Given the description of an element on the screen output the (x, y) to click on. 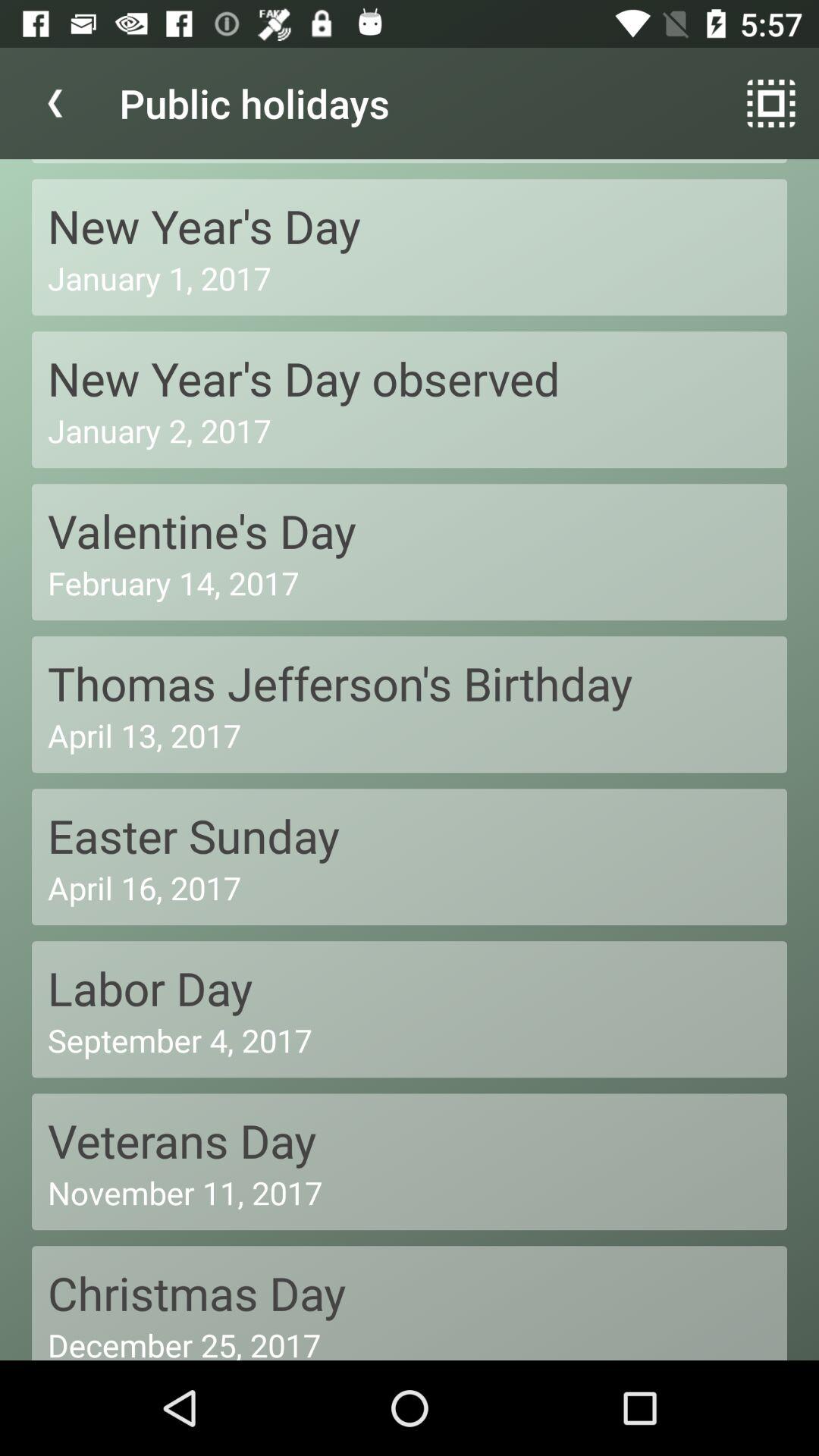
click app next to public holidays app (771, 103)
